Given the description of an element on the screen output the (x, y) to click on. 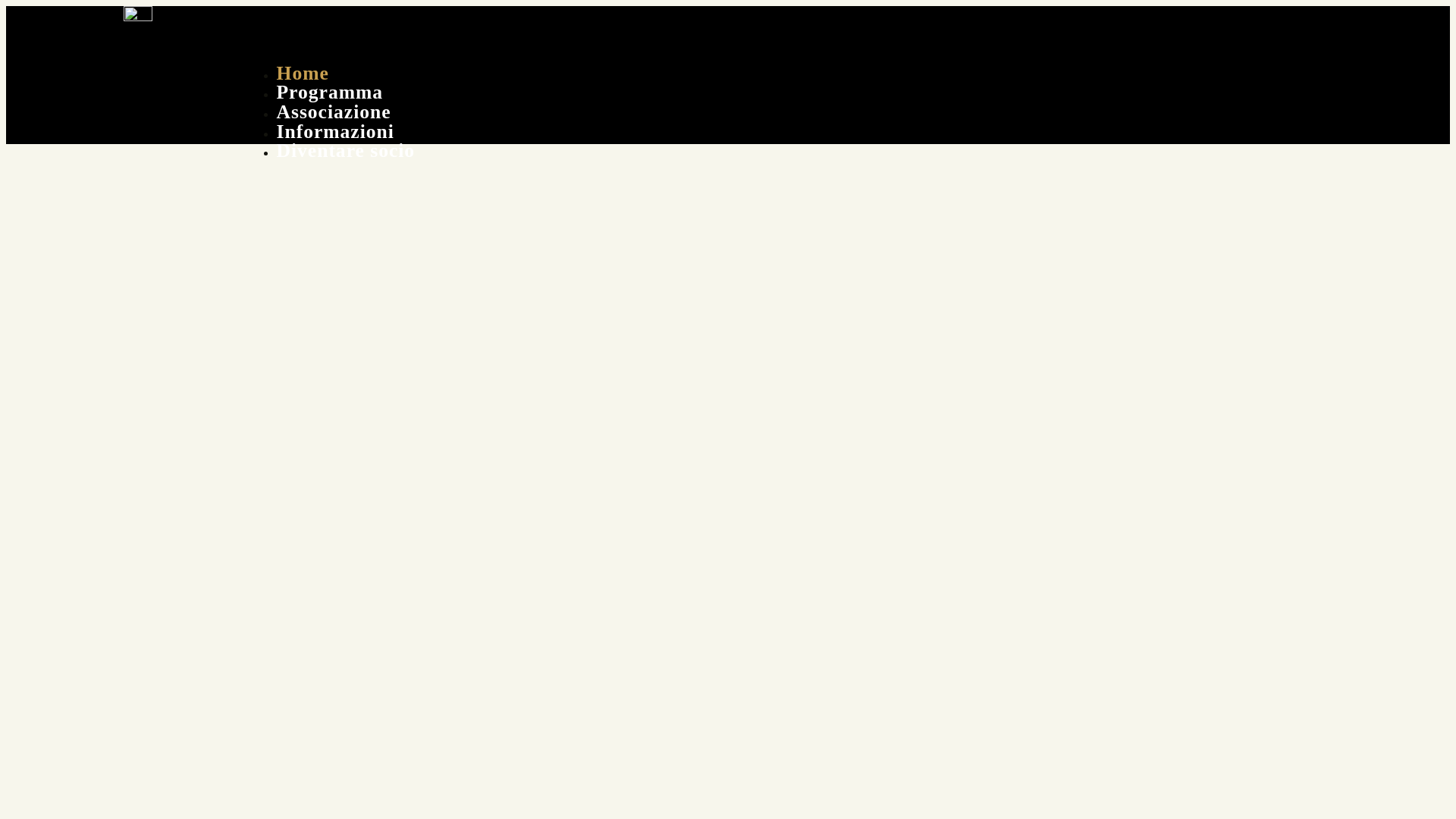
Diventare socio Element type: text (360, 150)
Informazioni Element type: text (350, 131)
Associazione Element type: text (348, 111)
Home Element type: text (317, 73)
Programma Element type: text (345, 92)
